Given the description of an element on the screen output the (x, y) to click on. 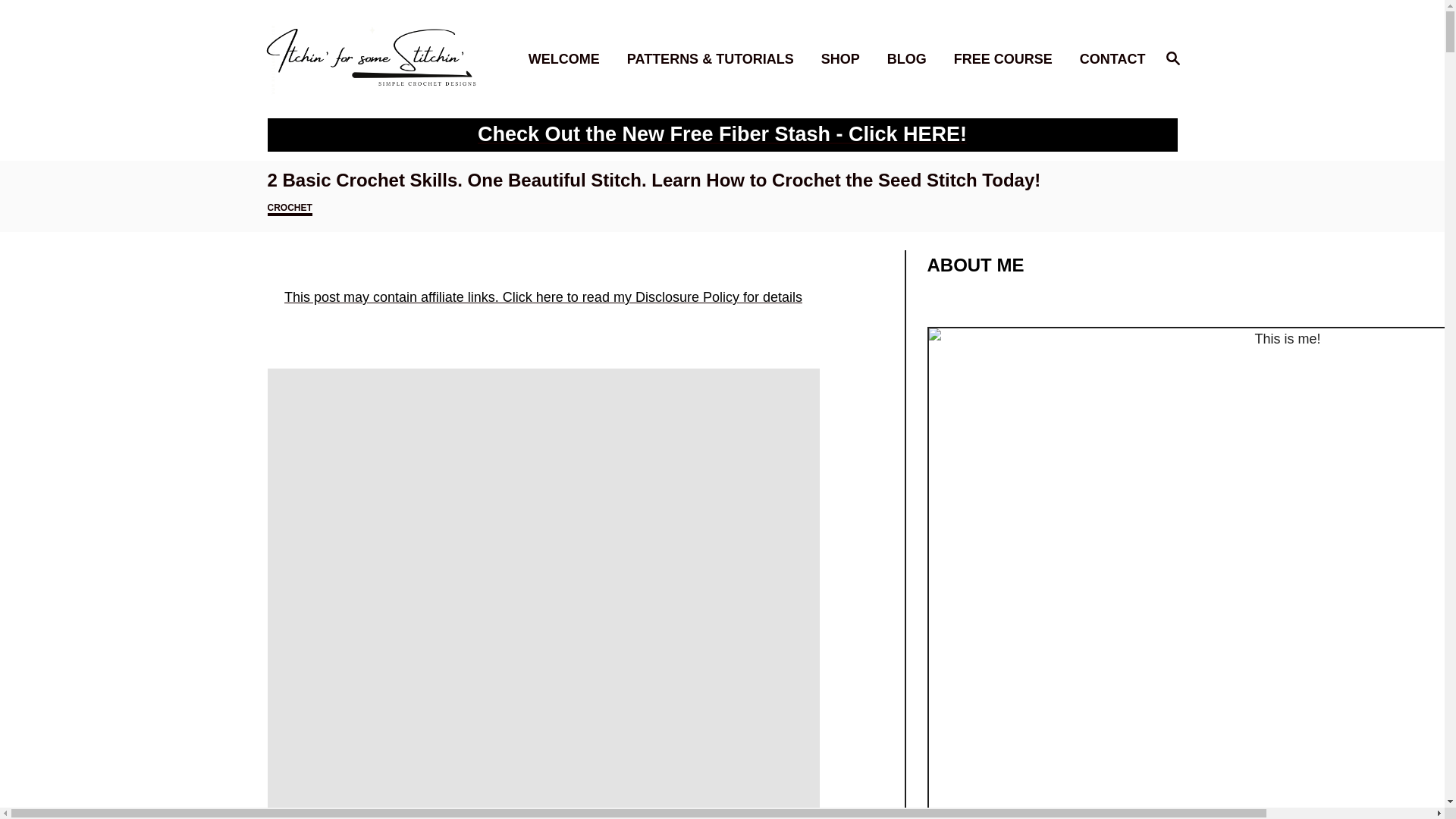
SHOP (844, 59)
CONTACT (1107, 59)
ITCHIN' FOR SOME STITCHIN' (371, 58)
WELCOME (1171, 59)
BLOG (568, 59)
FREE COURSE (910, 59)
Magnifying Glass (1007, 59)
